Given the description of an element on the screen output the (x, y) to click on. 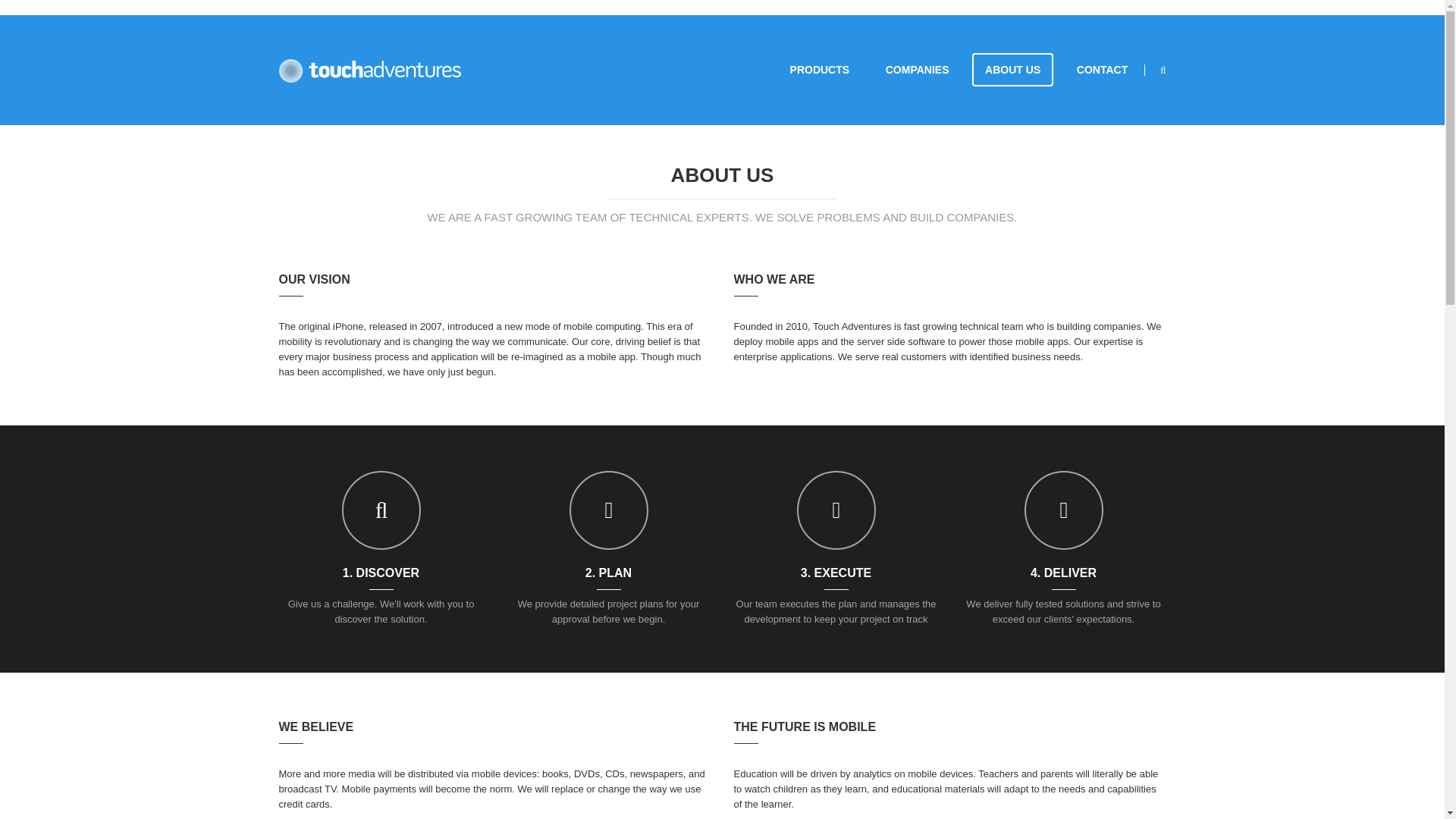
Skip to primary content (842, 70)
Products (820, 69)
COMPANIES (917, 69)
CONTACT (1102, 69)
SKIP TO SECONDARY CONTENT (850, 70)
SKIP TO PRIMARY CONTENT (842, 70)
PRODUCTS (820, 69)
ABOUT US (1012, 69)
Skip to secondary content (850, 70)
